Given the description of an element on the screen output the (x, y) to click on. 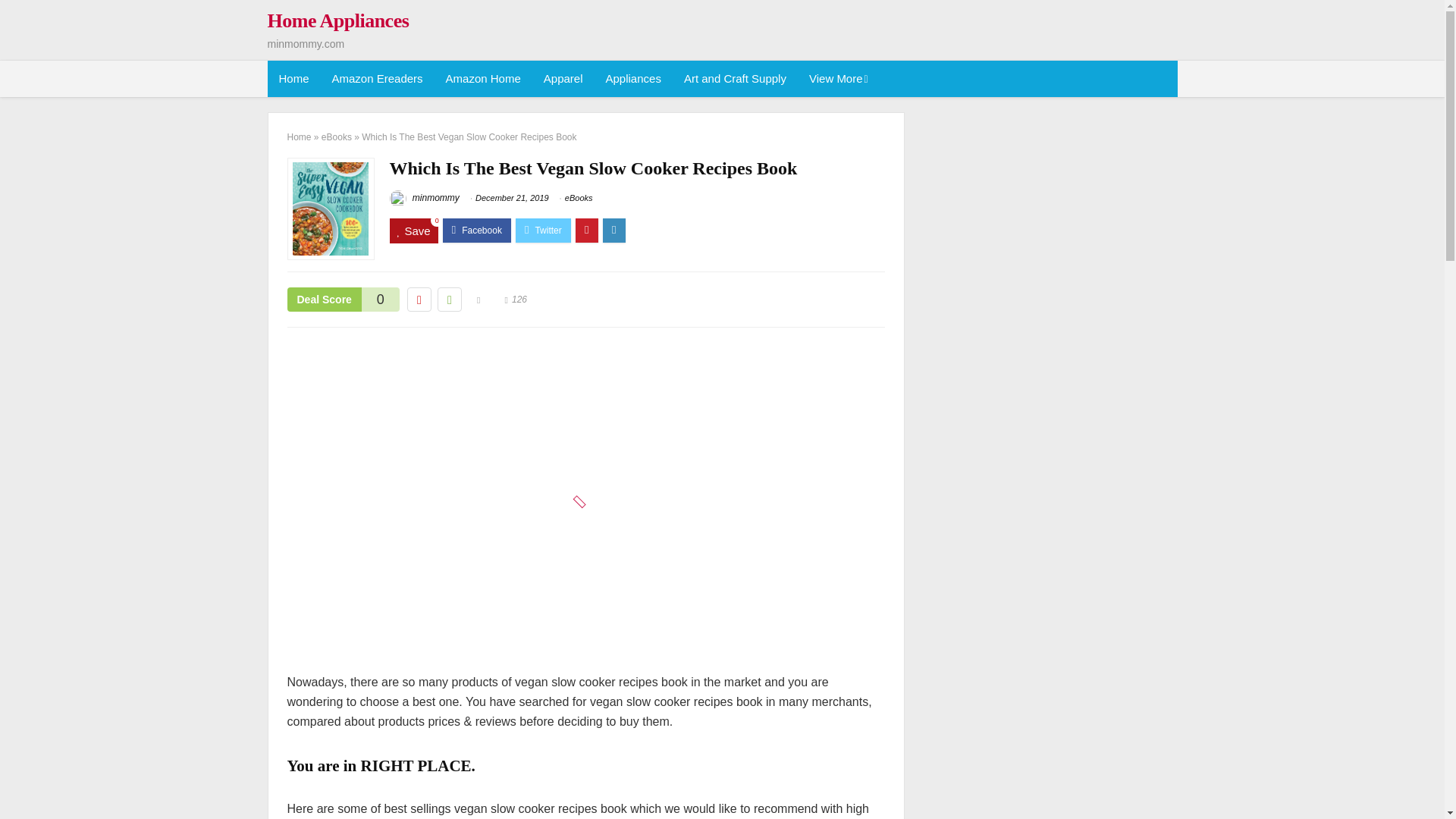
Appliances (633, 78)
View all posts in eBooks (578, 197)
Amazon Ereaders (376, 78)
View More (836, 78)
Home (293, 78)
Apparel (563, 78)
Vote down (418, 299)
Art and Craft Supply (734, 78)
Amazon Home (482, 78)
